Given the description of an element on the screen output the (x, y) to click on. 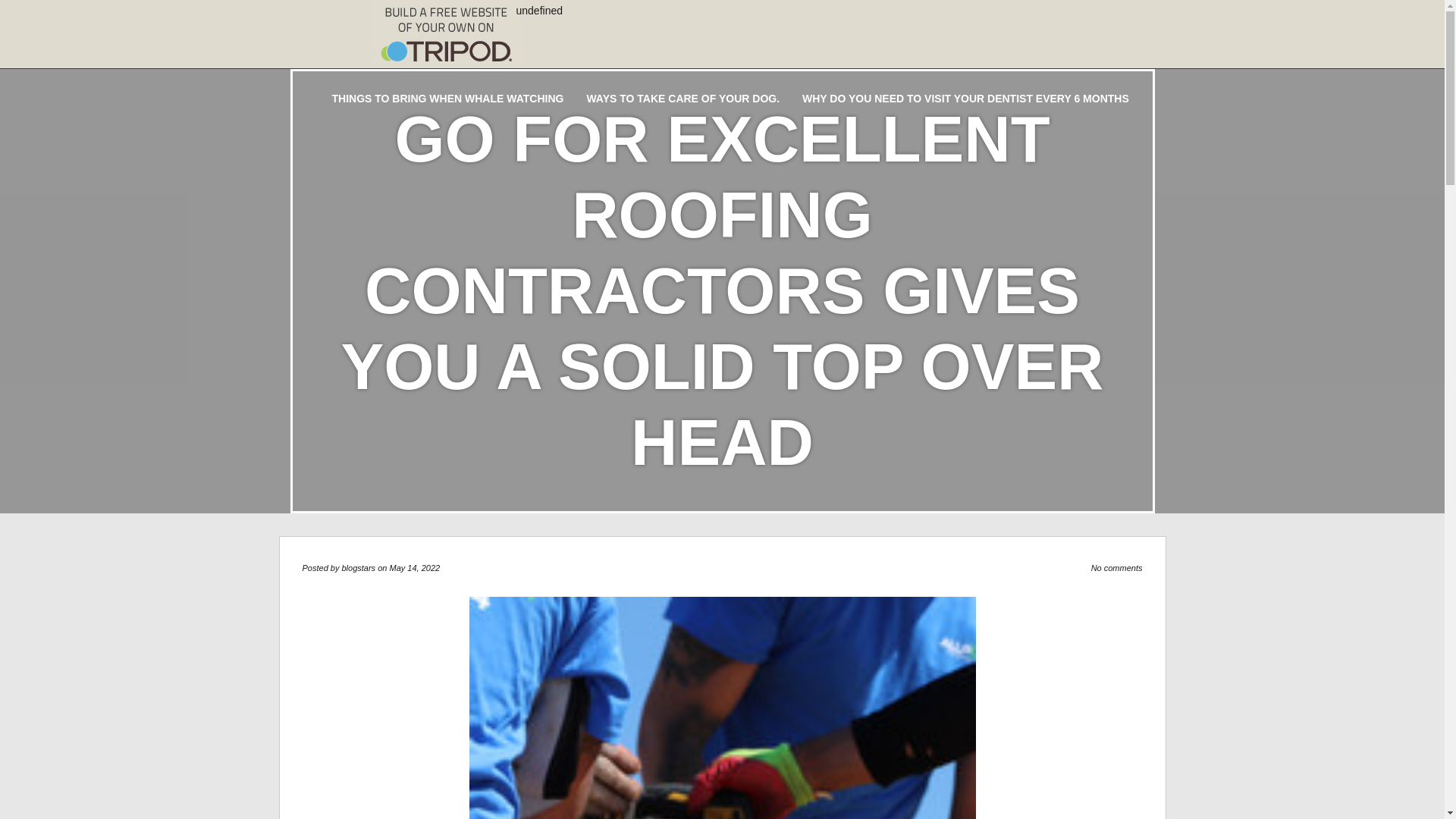
Posts by blogstars (357, 567)
BLOGSTARS (339, 18)
FIND A SKIN CARE REGIME THAT IS SUITABLE FOR YOU (530, 57)
WHY DO YOU NEED TO VISIT YOUR DENTIST EVERY 6 MONTHS (965, 98)
No comments (1116, 567)
blogstars (357, 567)
WAYS TO TAKE CARE OF YOUR DOG. (682, 98)
HOW TO FIND CHEAPER BROADBAND DEALS TODAY (838, 57)
build your own website at Tripod.com (444, 33)
HOME (347, 57)
